Given the description of an element on the screen output the (x, y) to click on. 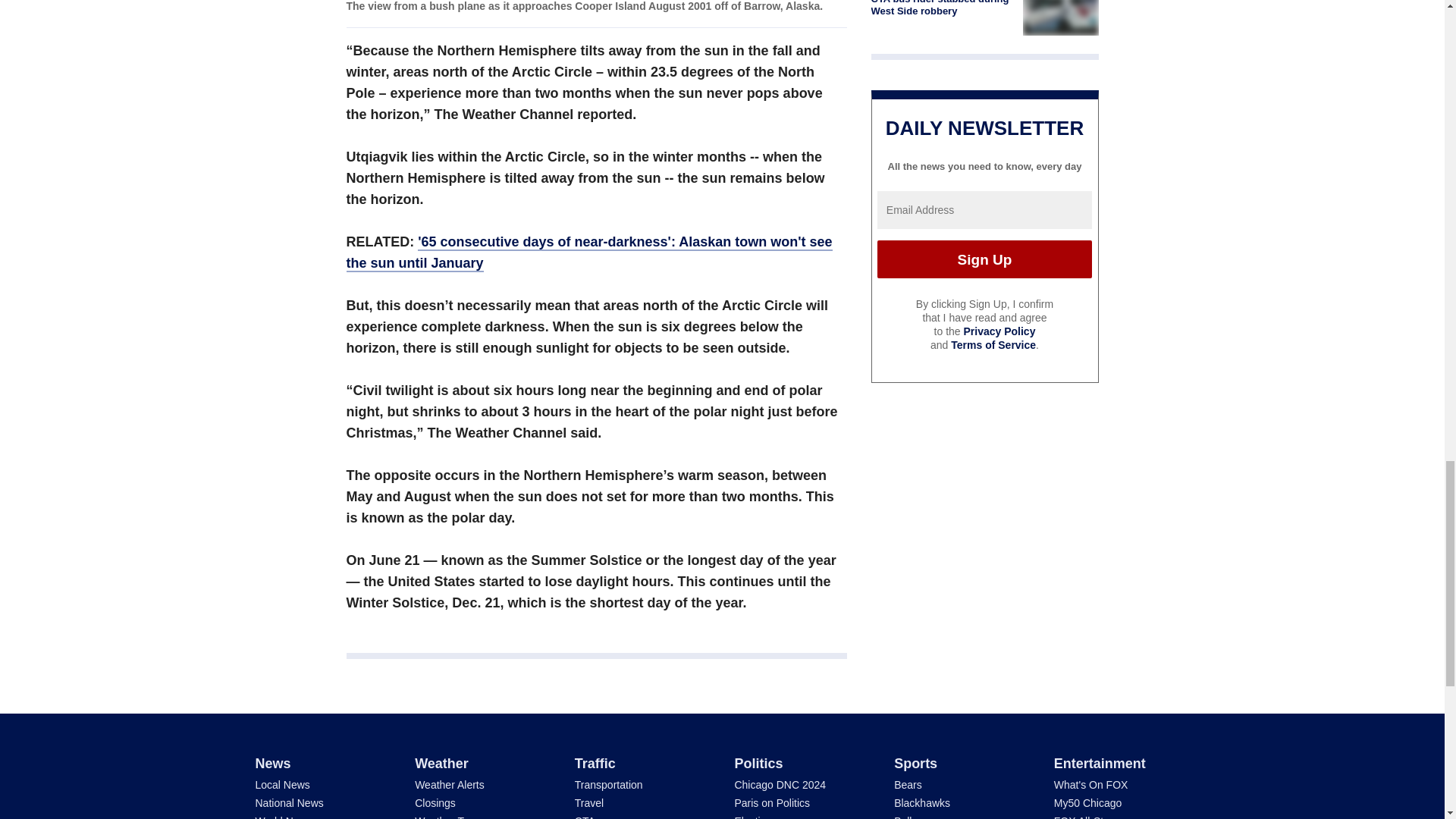
Sign Up (984, 259)
